Given the description of an element on the screen output the (x, y) to click on. 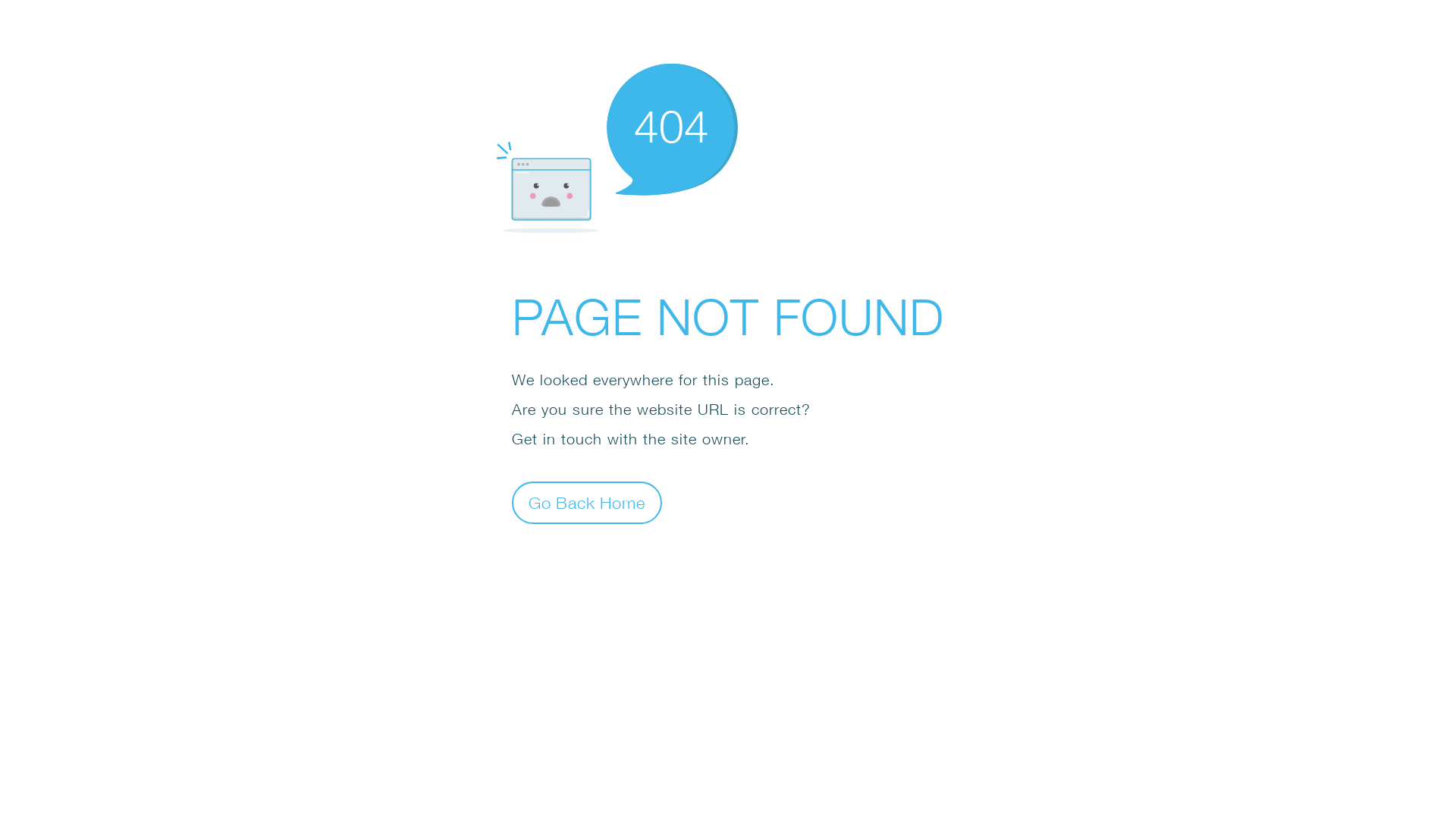
Go Back Home Element type: text (586, 502)
